Given the description of an element on the screen output the (x, y) to click on. 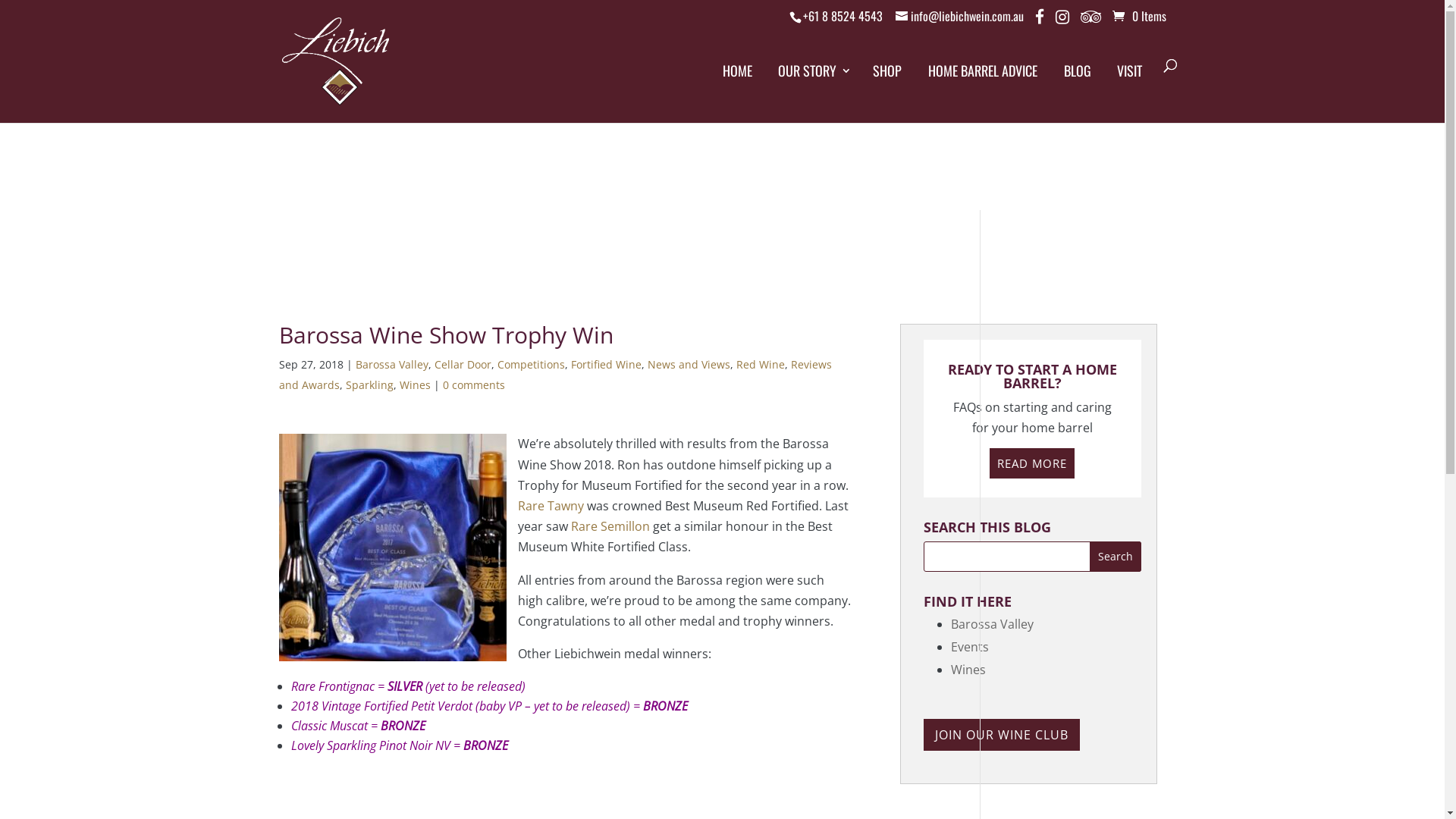
HOME BARREL ADVICE Element type: text (982, 83)
SHOP Element type: text (887, 83)
Wines Element type: text (413, 384)
Competitions Element type: text (530, 364)
Rare Semillon Element type: text (609, 525)
Events Element type: text (969, 646)
Reviews and Awards Element type: text (555, 374)
News and Views Element type: text (688, 364)
Barossa Valley Element type: text (390, 364)
Red Wine Element type: text (759, 364)
HOME Element type: text (736, 83)
Barossa Valley Element type: text (991, 623)
Wines Element type: text (967, 669)
JOIN OUR WINE CLUB Element type: text (1001, 734)
0 comments Element type: text (473, 384)
Rare Tawny Element type: text (550, 505)
Sparkling Element type: text (369, 384)
Search Element type: text (1115, 556)
OUR STORY Element type: text (812, 83)
Cellar Door Element type: text (461, 364)
Fortified Wine Element type: text (605, 364)
BLOG Element type: text (1076, 83)
VISIT Element type: text (1129, 83)
0 Items Element type: text (1138, 15)
info@liebichwein.com.au Element type: text (958, 15)
READ MORE Element type: text (1031, 463)
+61 8 8524 4543 Element type: text (841, 15)
